Given the description of an element on the screen output the (x, y) to click on. 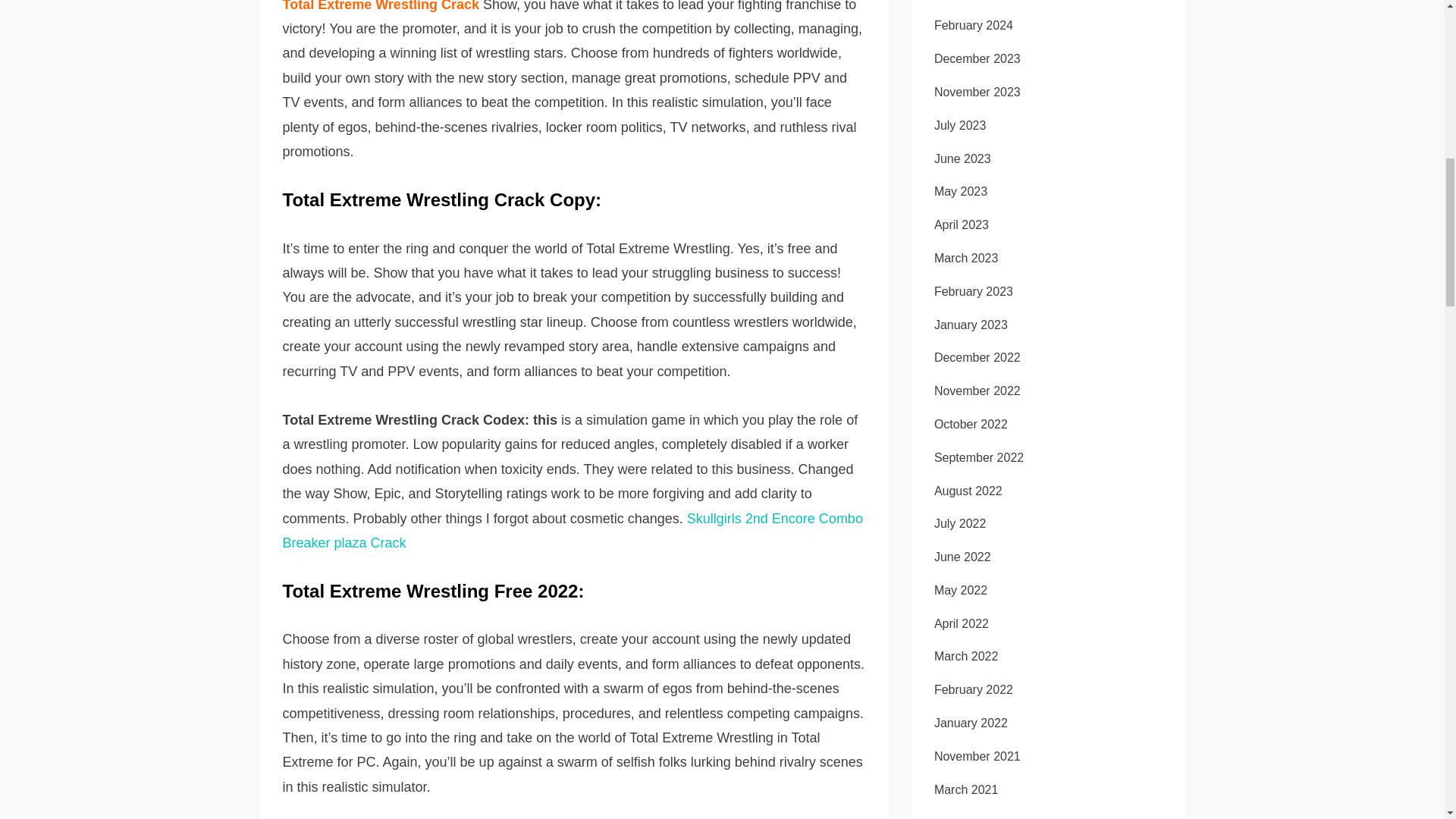
Skullgirls 2nd Encore Combo Breaker plaza Crack (571, 530)
Total Extreme Wrestling Crack (381, 6)
February 2024 (973, 24)
